Given the description of an element on the screen output the (x, y) to click on. 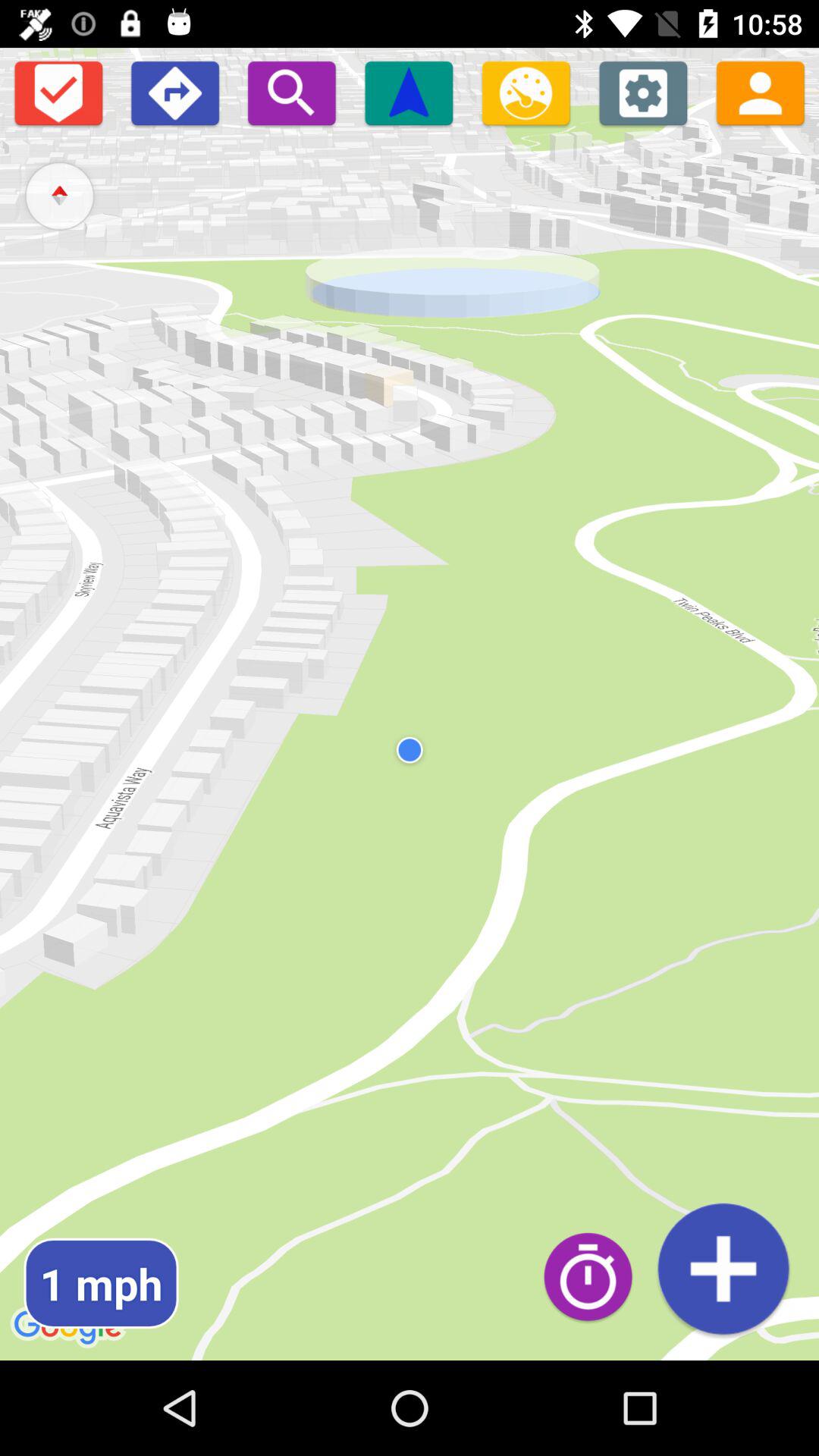
go to turn-by-turn navigation (174, 92)
